Given the description of an element on the screen output the (x, y) to click on. 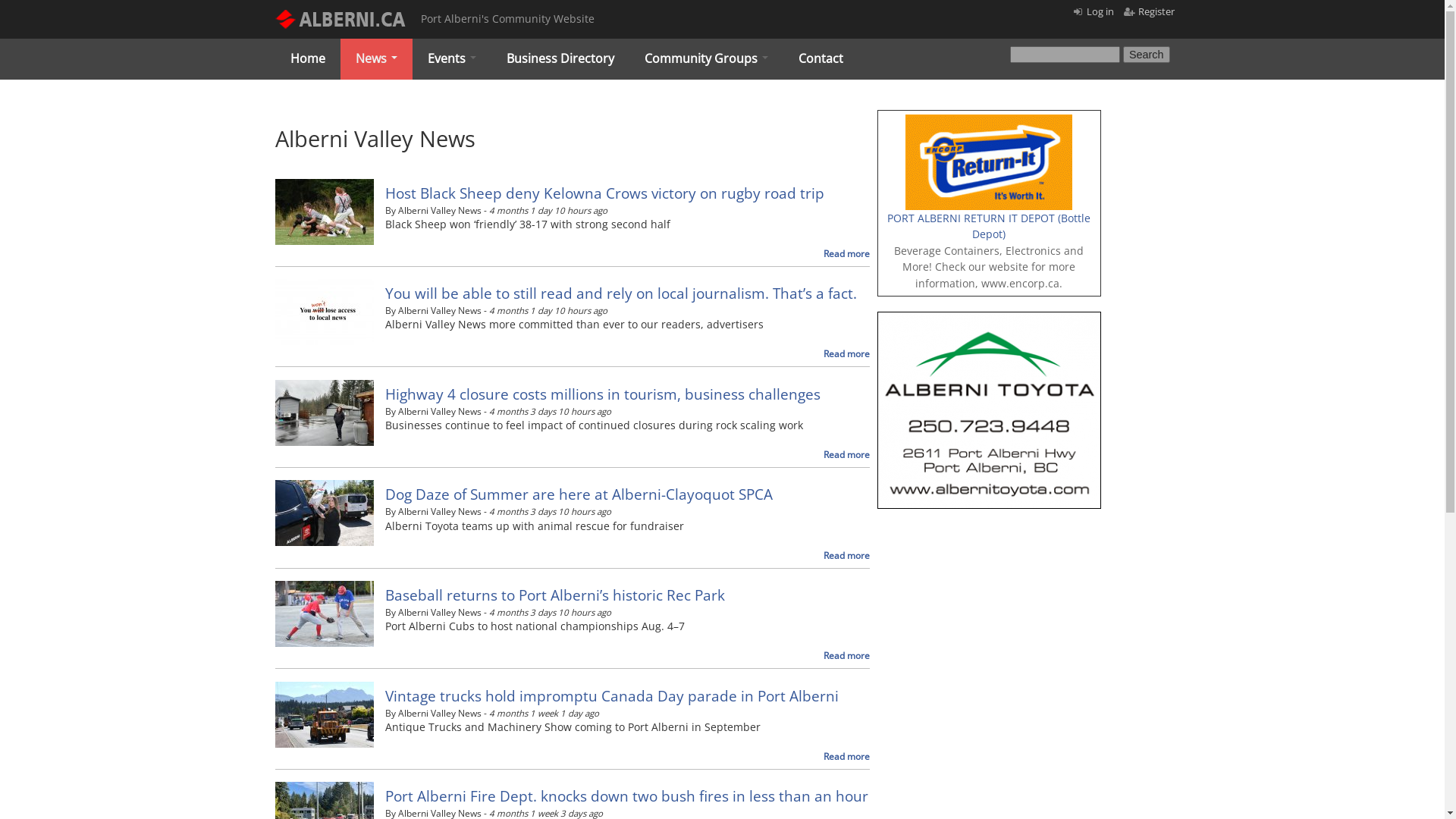
Search Element type: text (1146, 54)
Read more Element type: text (846, 756)
Alberni Toyota Element type: hover (988, 319)
Home Element type: text (306, 58)
Register Element type: text (1156, 11)
Dog Daze of Summer are here at Alberni-Clayoquot SPCA Element type: text (578, 493)
Read more Element type: text (846, 253)
Read more Element type: text (846, 655)
Events Element type: text (451, 58)
PORT ALBERNI RETURN IT DEPOT (Bottle Depot) Element type: text (988, 225)
Read more Element type: text (846, 353)
Community Groups Element type: text (706, 58)
Business Directory Element type: text (560, 58)
Alberni.ca Element type: text (411, 137)
News Element type: text (375, 58)
Read more Element type: text (846, 555)
Log in Element type: text (1099, 11)
Read more Element type: text (846, 454)
Skip to main content Element type: text (656, 0)
Contact Element type: text (819, 58)
Enter the terms you wish to search for. Element type: hover (1065, 54)
